Given the description of an element on the screen output the (x, y) to click on. 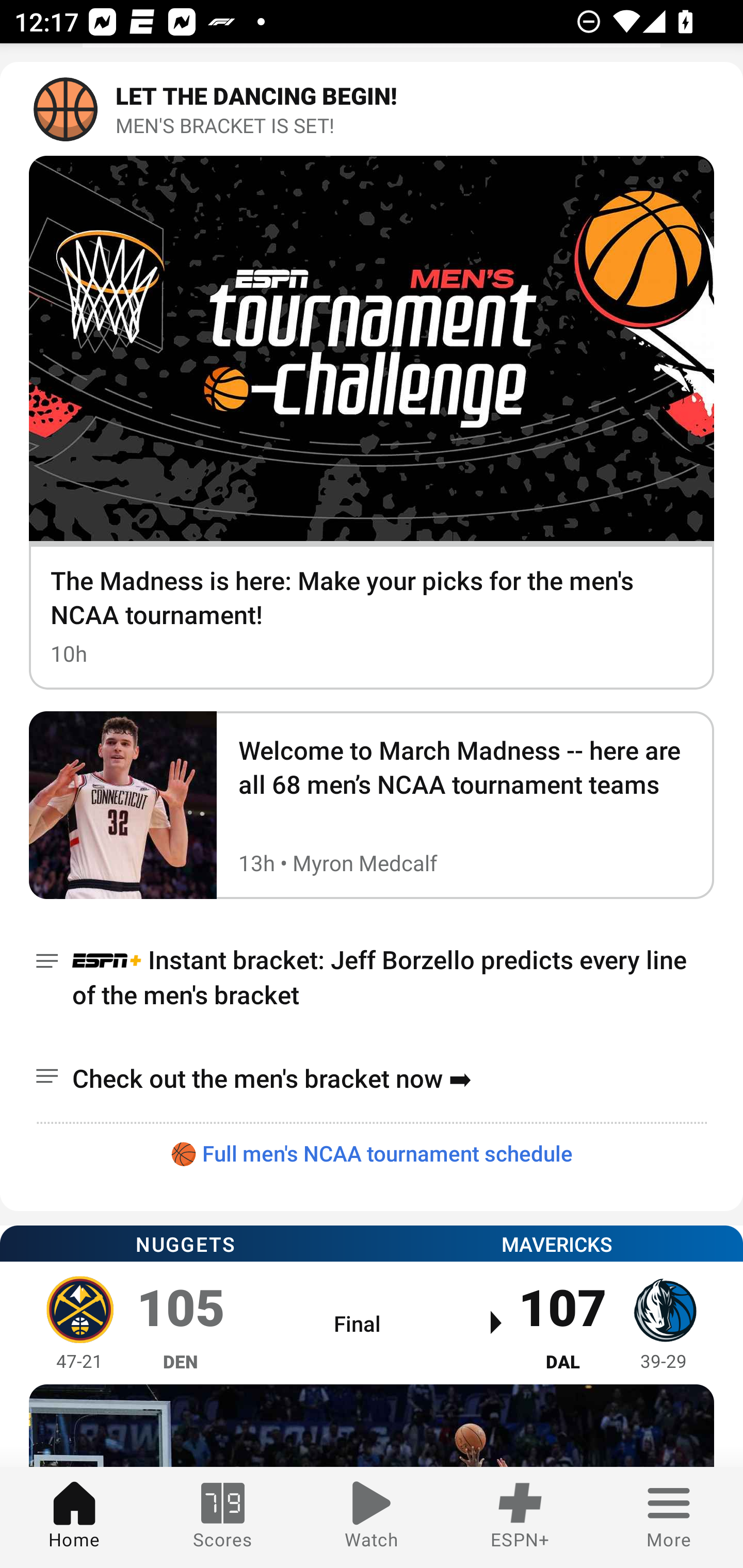
 Check out the men's bracket now ➡ (371, 1077)
🏀 Full men's NCAA tournament schedule (371, 1153)
Scores (222, 1517)
Watch (371, 1517)
ESPN+ (519, 1517)
More (668, 1517)
